Given the description of an element on the screen output the (x, y) to click on. 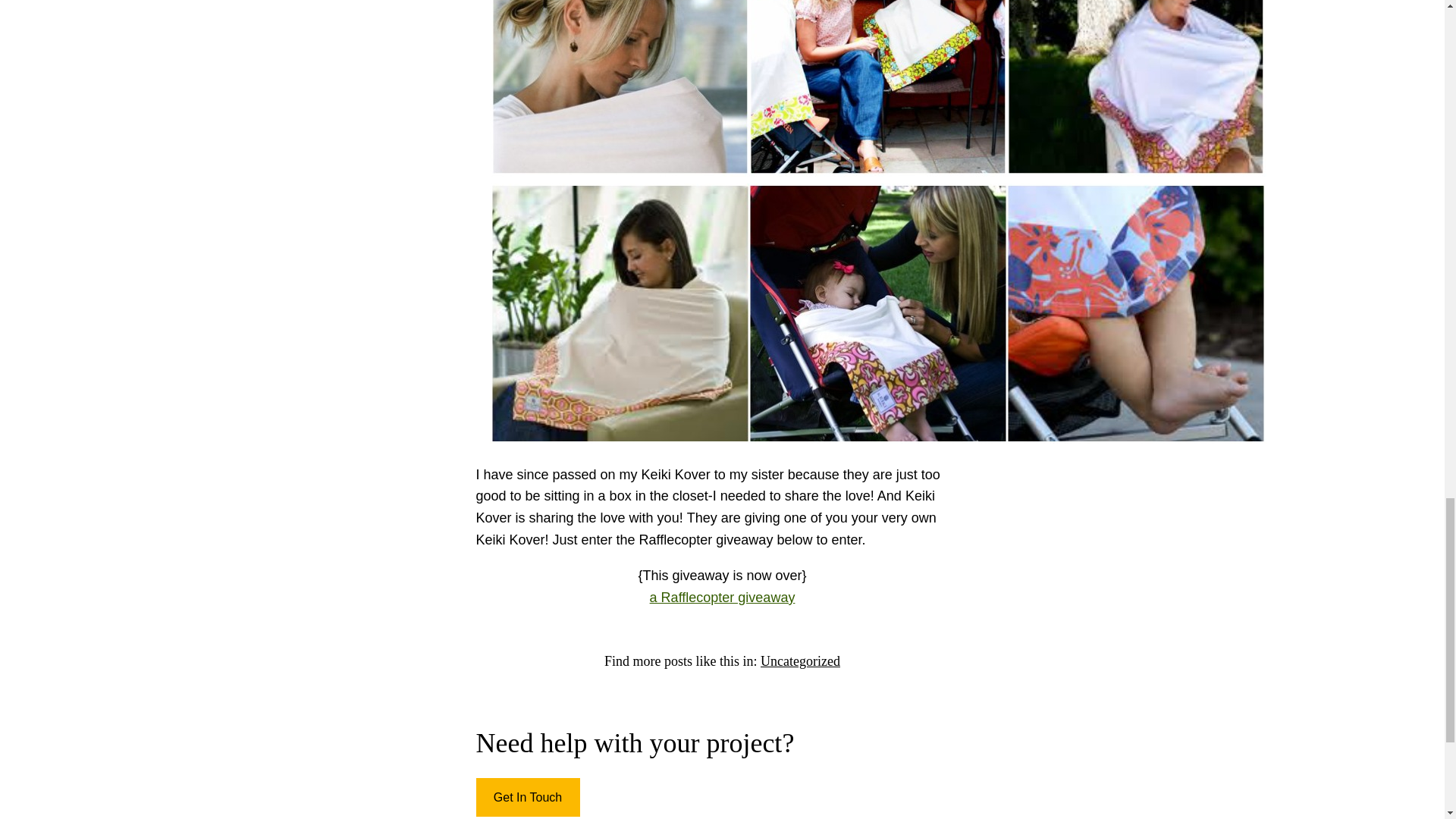
a Rafflecopter giveaway (721, 597)
Uncategorized (800, 661)
Get In Touch (527, 797)
